Given the description of an element on the screen output the (x, y) to click on. 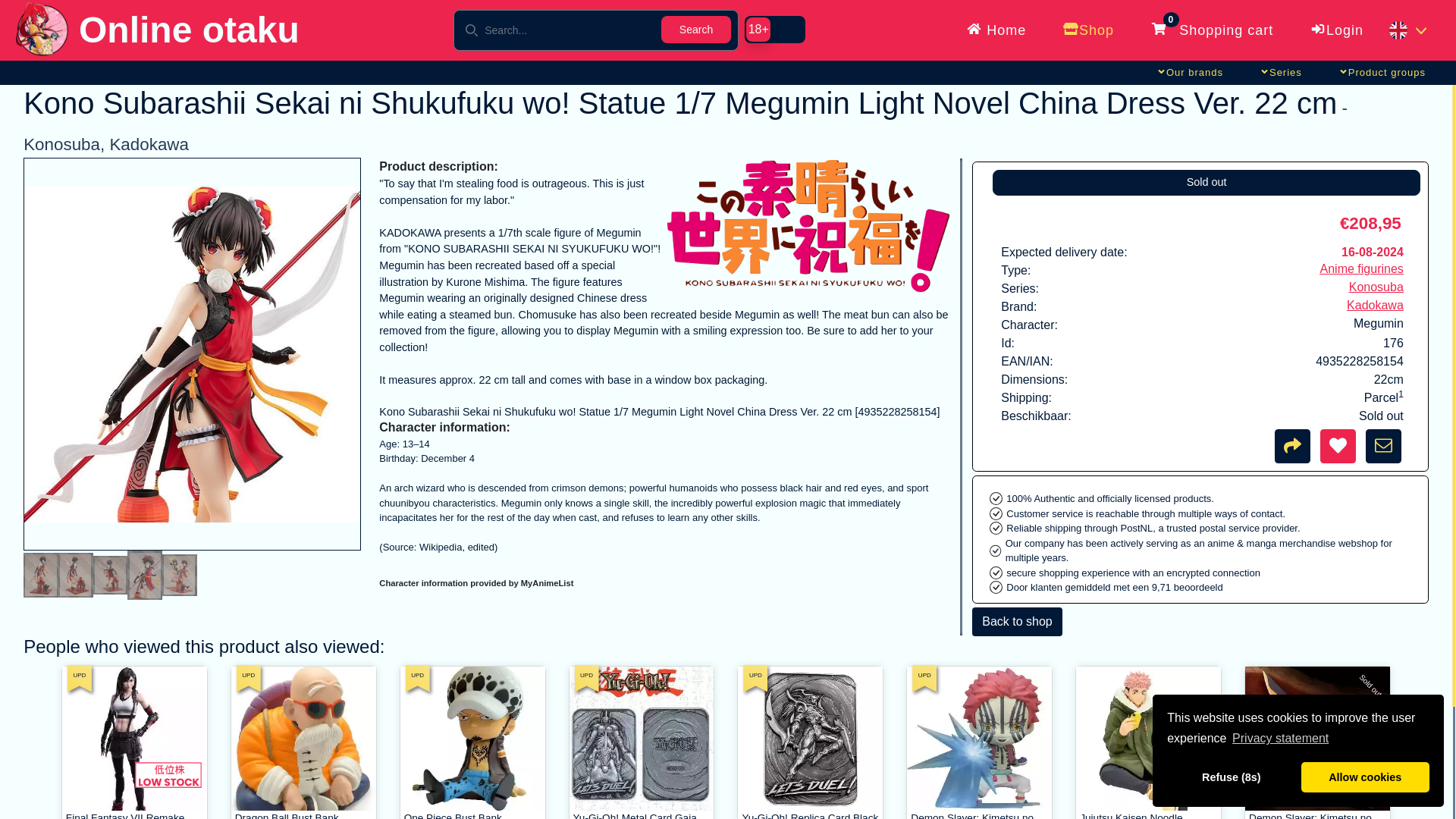
0Shopping cart (1211, 30)
Search (695, 29)
Online otaku (155, 32)
Login (1335, 30)
Home (996, 30)
Privacy statement (1281, 738)
Shop (1087, 30)
Allow cookies (1365, 777)
